Given the description of an element on the screen output the (x, y) to click on. 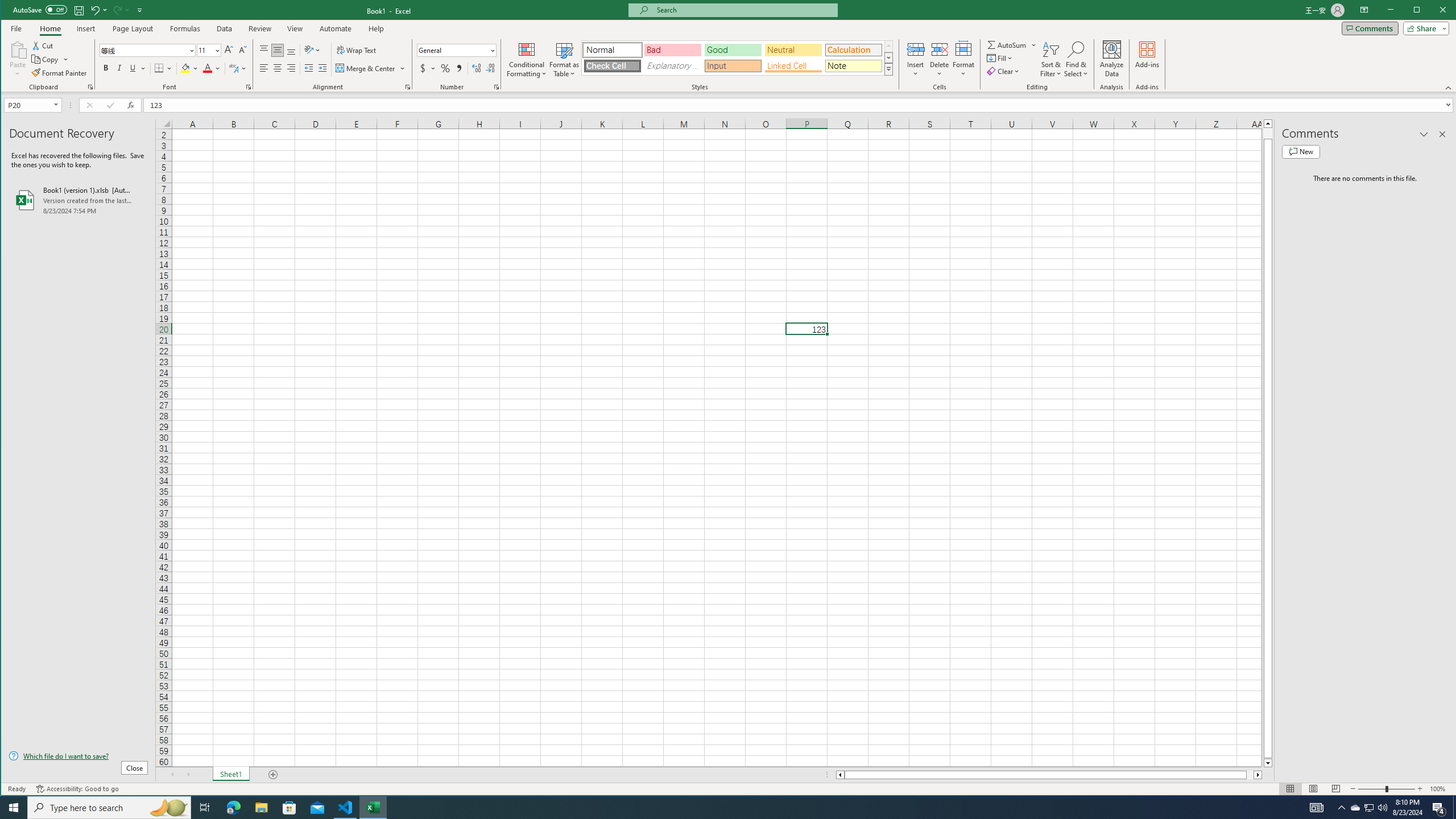
Font Color (211, 68)
Format as Table (564, 59)
Fill (1000, 57)
Copy (50, 59)
Conditional Formatting (526, 59)
Office Clipboard... (89, 86)
Visual Studio Code - 1 running window (345, 807)
Paste (17, 48)
Increase Decimal (476, 68)
Format Cell Font (248, 86)
